Given the description of an element on the screen output the (x, y) to click on. 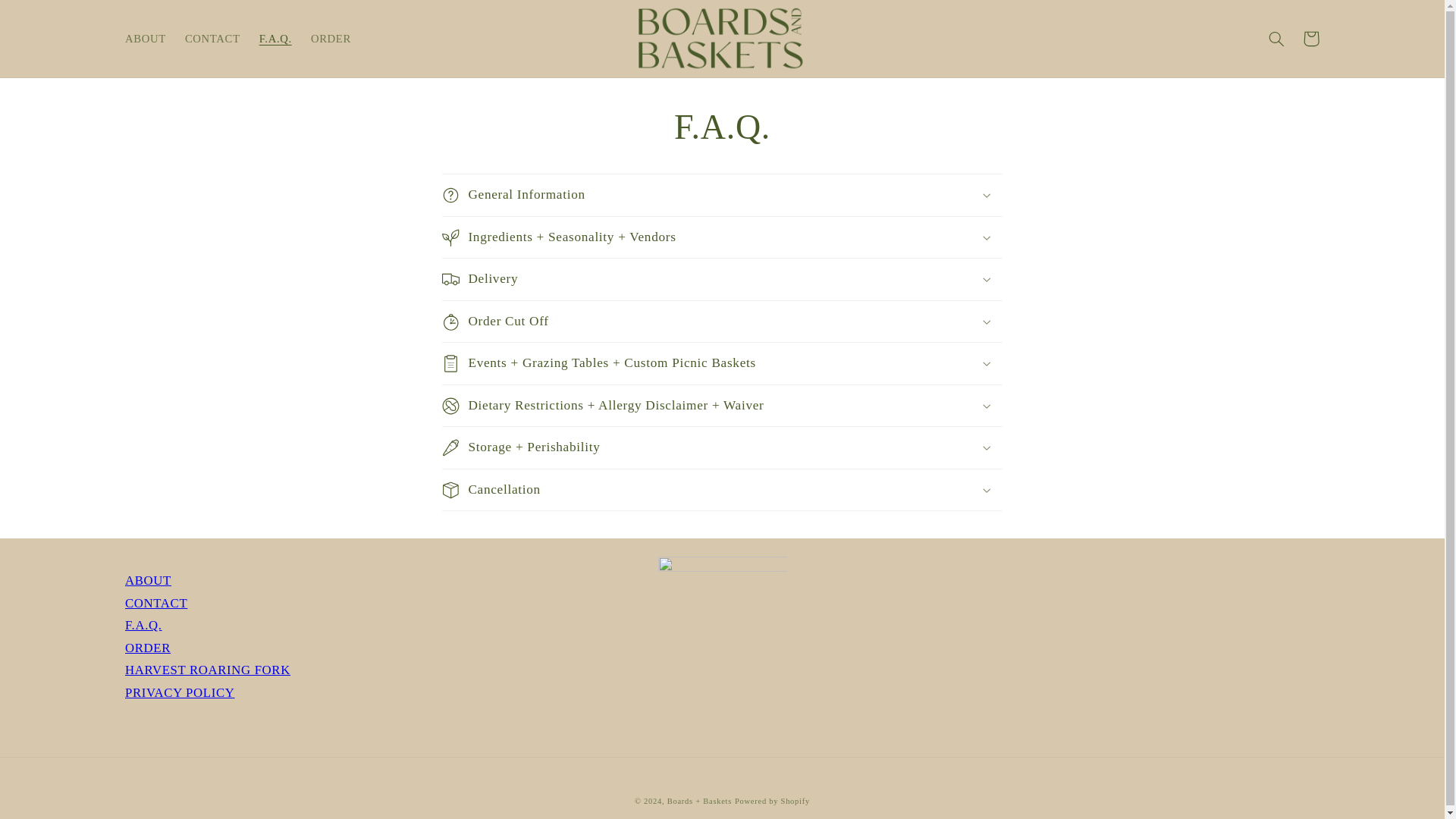
F.A.Q. (143, 625)
PRIVACY POLICY (179, 692)
CONTACT (211, 38)
Contact (156, 603)
F.A.Q. (274, 38)
ABOUT (144, 38)
All products (147, 647)
ABOUT (148, 580)
HARVEST ROARING FORK (207, 669)
ABOUT (148, 580)
ORDER (330, 38)
F.A.Q. (143, 625)
Powered by Shopify (772, 800)
CONTACT (156, 603)
Cart (1310, 38)
